Given the description of an element on the screen output the (x, y) to click on. 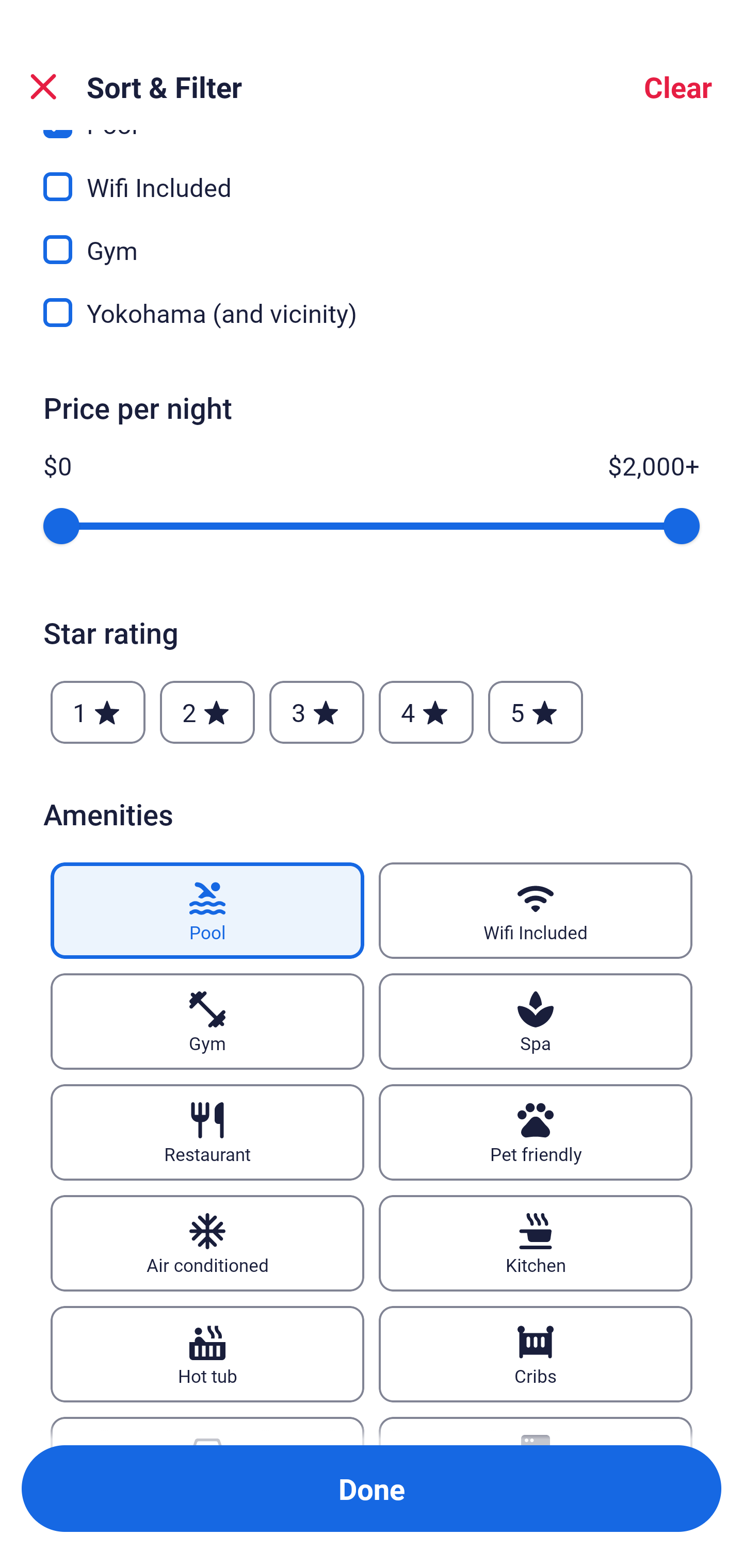
Close Sort and Filter (43, 86)
Clear (677, 86)
Wifi Included, Wifi Included (371, 175)
Gym, Gym (371, 237)
Yokohama (and vicinity), Yokohama (and vicinity) (371, 312)
1 (97, 712)
2 (206, 712)
3 (316, 712)
4 (426, 712)
5 (535, 712)
Pool (207, 910)
Wifi Included (535, 910)
Gym (207, 1021)
Spa (535, 1021)
Restaurant (207, 1131)
Pet friendly (535, 1131)
Air conditioned (207, 1243)
Kitchen (535, 1243)
Hot tub (207, 1353)
Cribs (535, 1353)
Apply and close Sort and Filter Done (371, 1488)
